Given the description of an element on the screen output the (x, y) to click on. 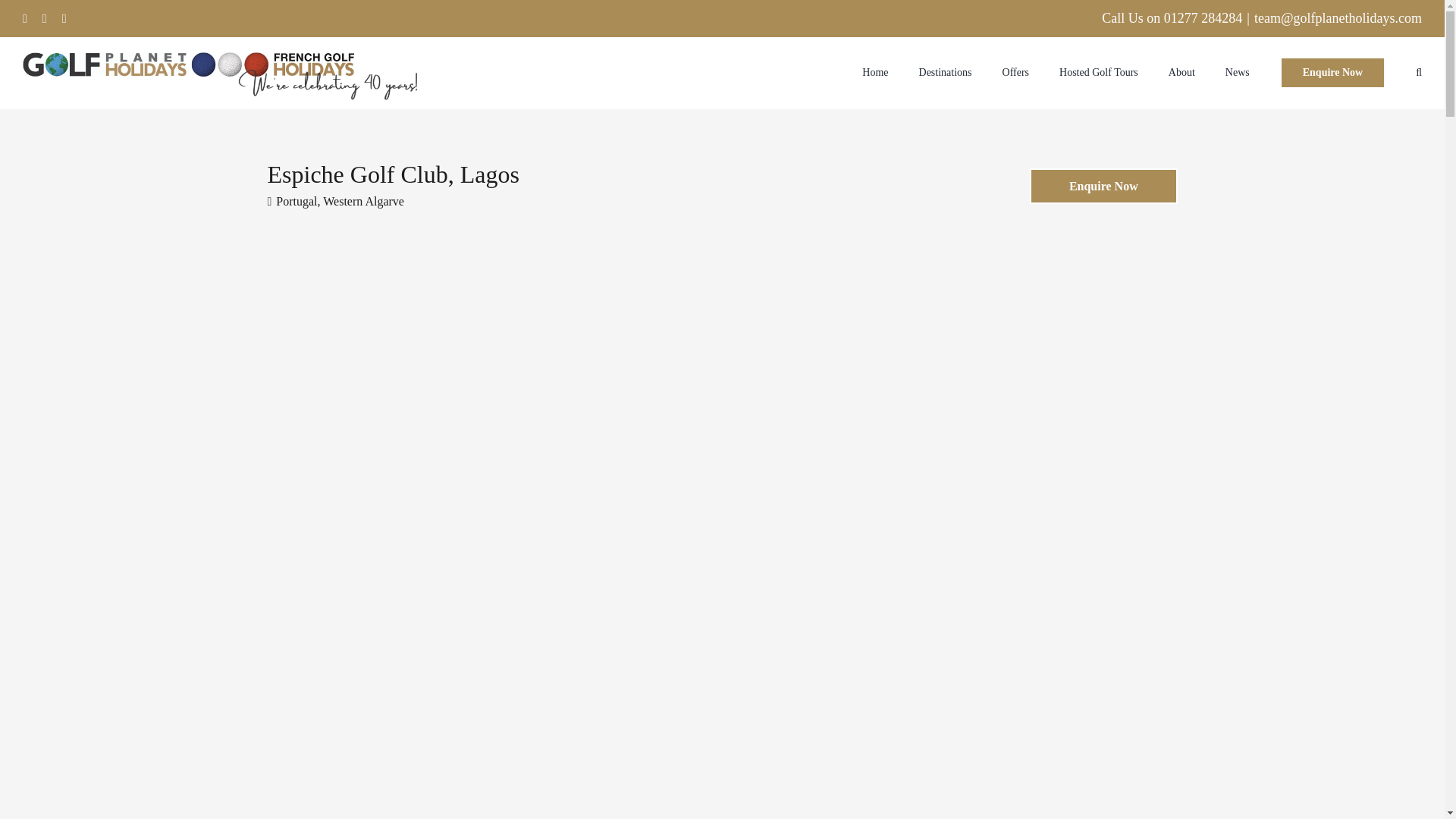
Enquire Now (1102, 185)
01277 284284 (1203, 17)
Enquire Now (1332, 72)
Hosted Golf Tours (1098, 72)
